Given the description of an element on the screen output the (x, y) to click on. 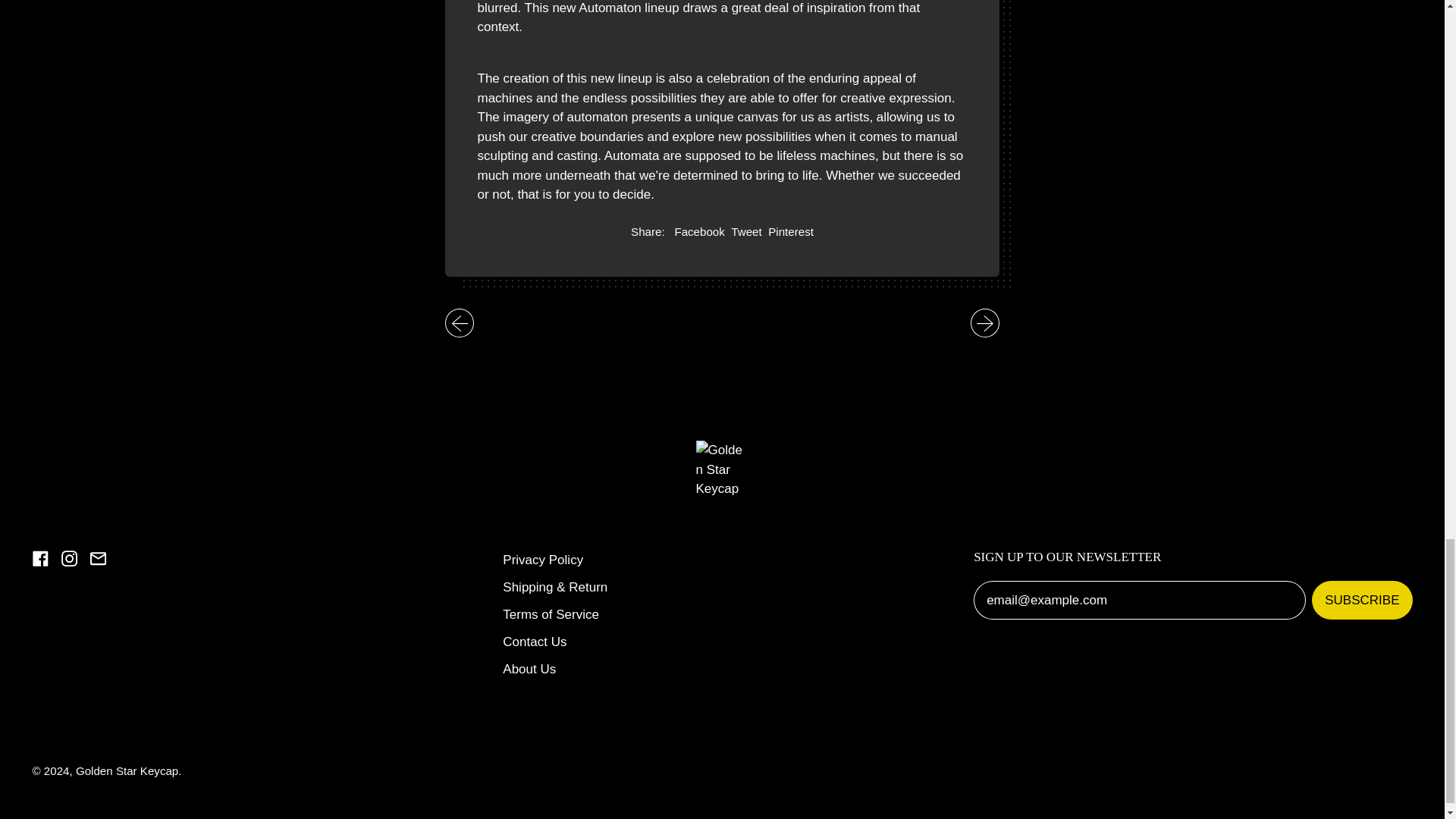
Terms of Service (790, 231)
Privacy Policy (550, 614)
SUBSCRIBE (542, 559)
Golden Star Keycap (1361, 599)
Contact Us (745, 231)
About Us (126, 770)
Instagram (534, 641)
Facebook (529, 668)
Email (69, 562)
